Given the description of an element on the screen output the (x, y) to click on. 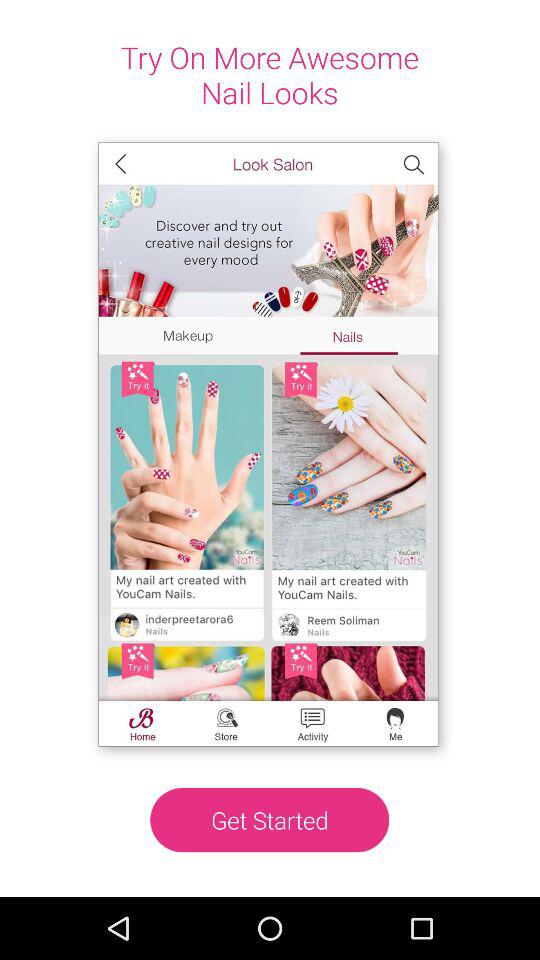
open get started (269, 819)
